Given the description of an element on the screen output the (x, y) to click on. 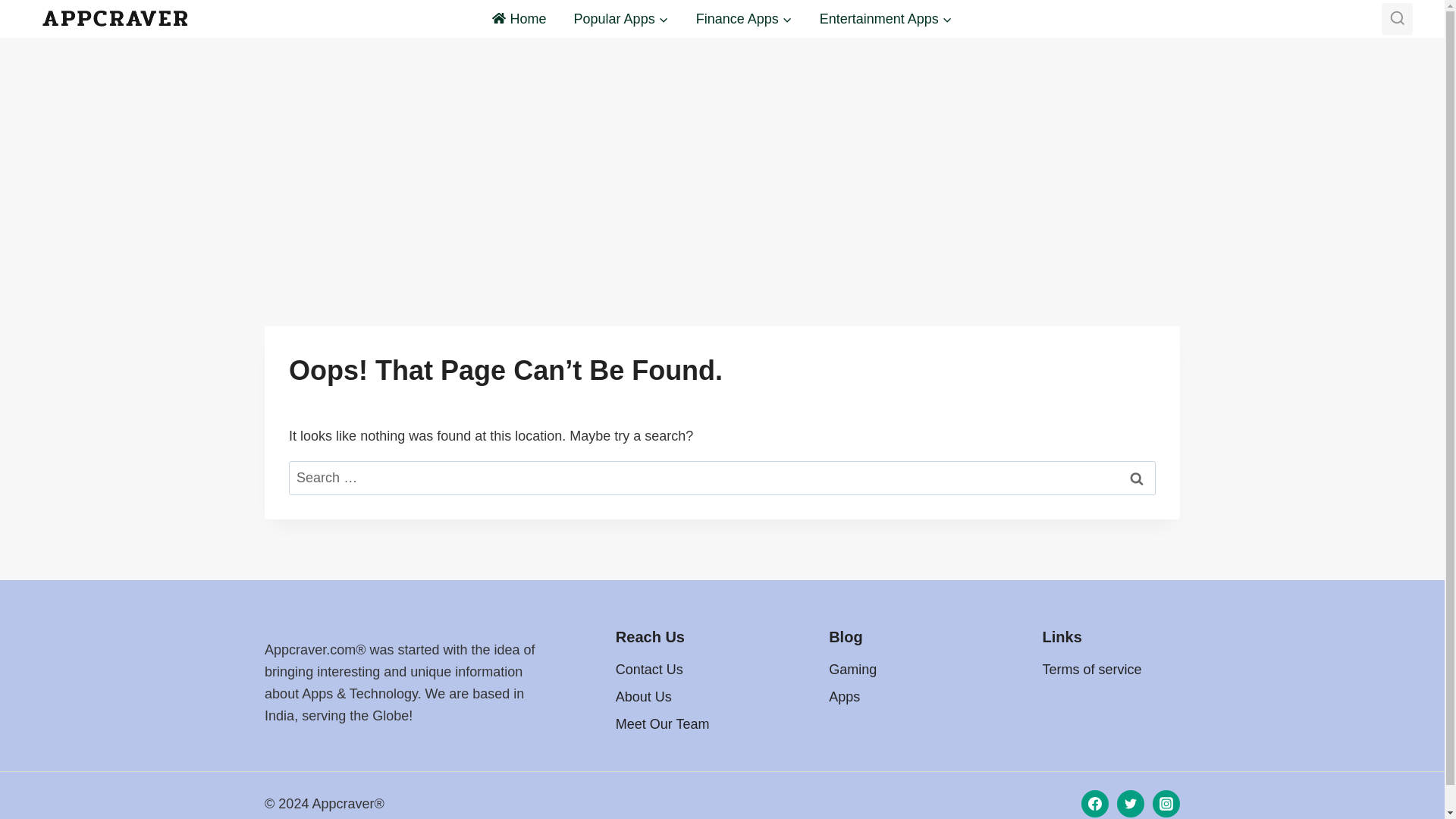
Search (1137, 478)
Popular Apps (621, 18)
Terms of service (1110, 669)
Home (519, 18)
Search (1137, 478)
About Us (683, 696)
Gaming (897, 669)
Entertainment Apps (886, 18)
Finance Apps (744, 18)
Meet Our Team (683, 723)
